Given the description of an element on the screen output the (x, y) to click on. 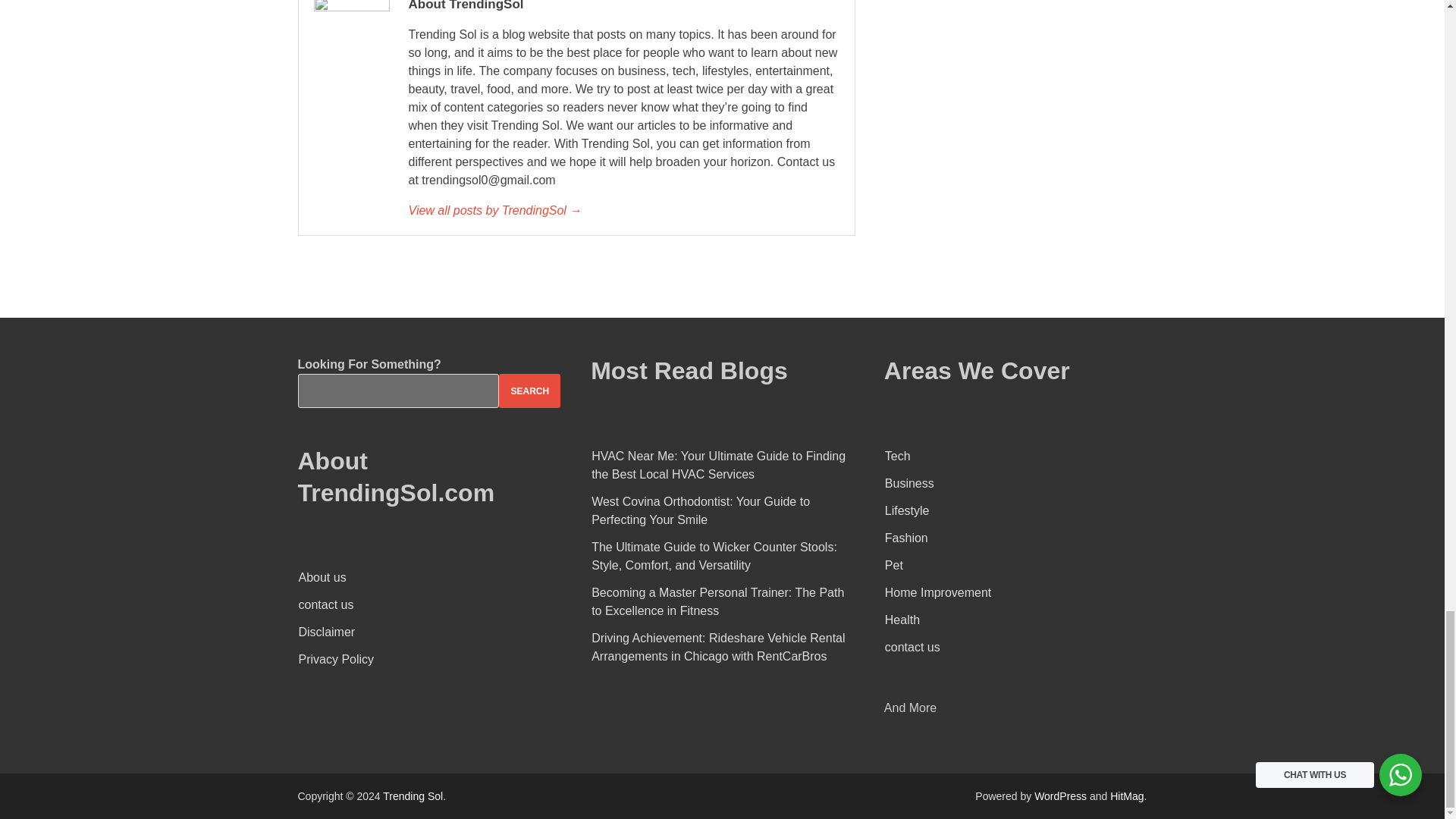
HitMag WordPress Theme (1125, 796)
Trending Sol (412, 796)
WordPress (1059, 796)
TrendingSol (622, 210)
